Given the description of an element on the screen output the (x, y) to click on. 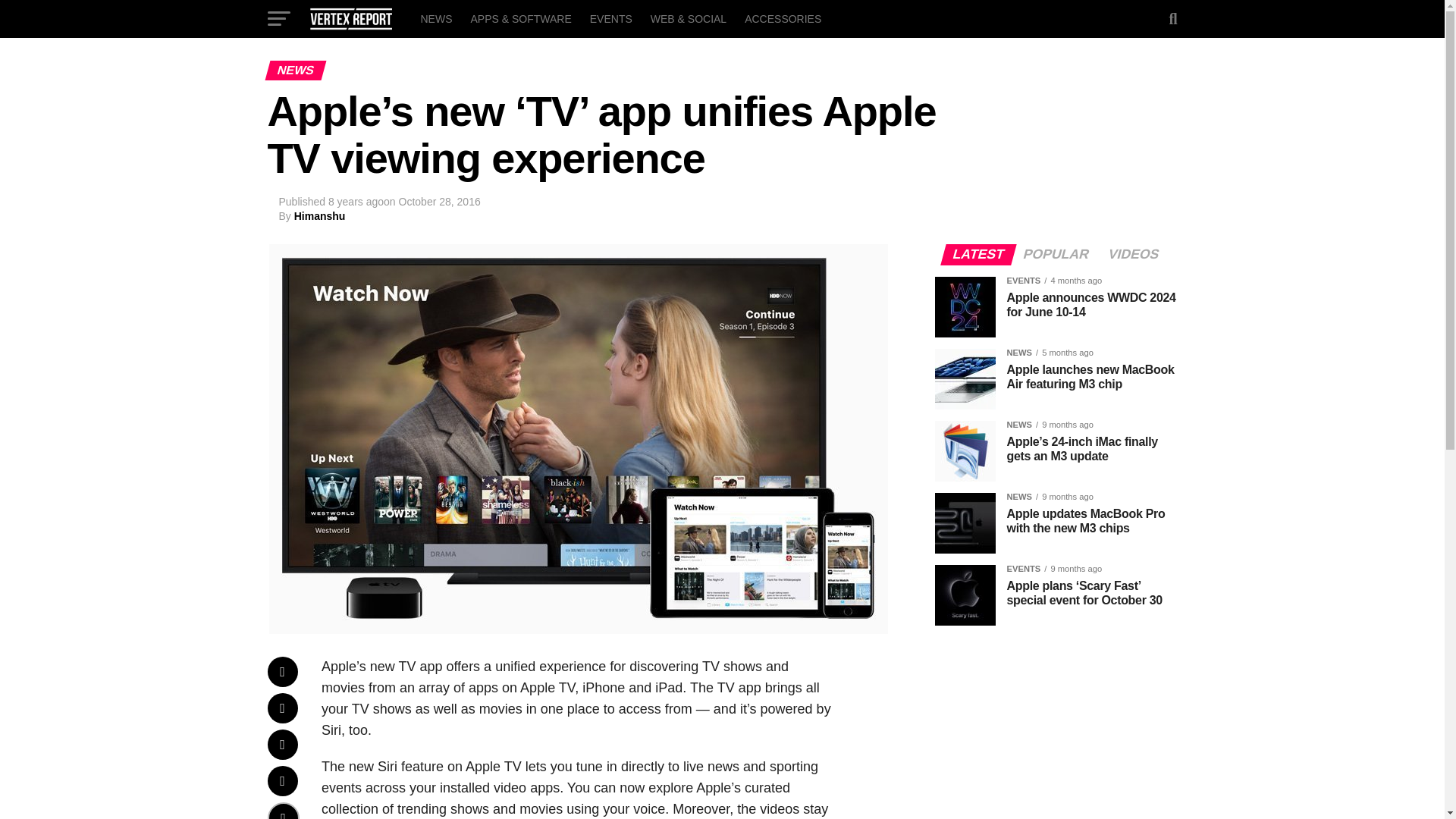
NEWS (435, 18)
EVENTS (611, 18)
ACCESSORIES (782, 18)
News (435, 18)
Posts by Himanshu (320, 215)
Events (611, 18)
